Given the description of an element on the screen output the (x, y) to click on. 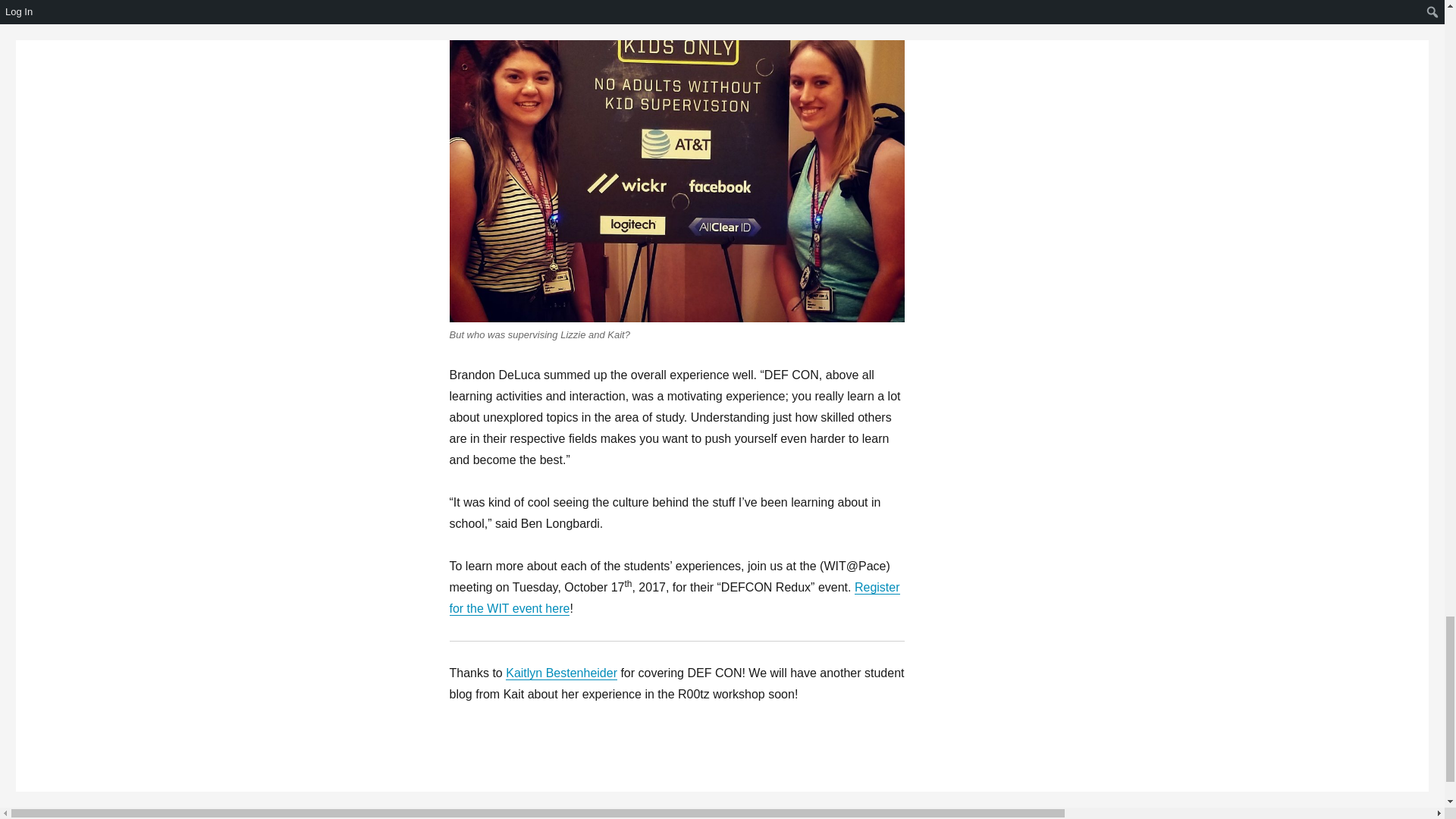
Kaitlyn Bestenheider (561, 672)
Register for the WIT event here (673, 597)
